Given the description of an element on the screen output the (x, y) to click on. 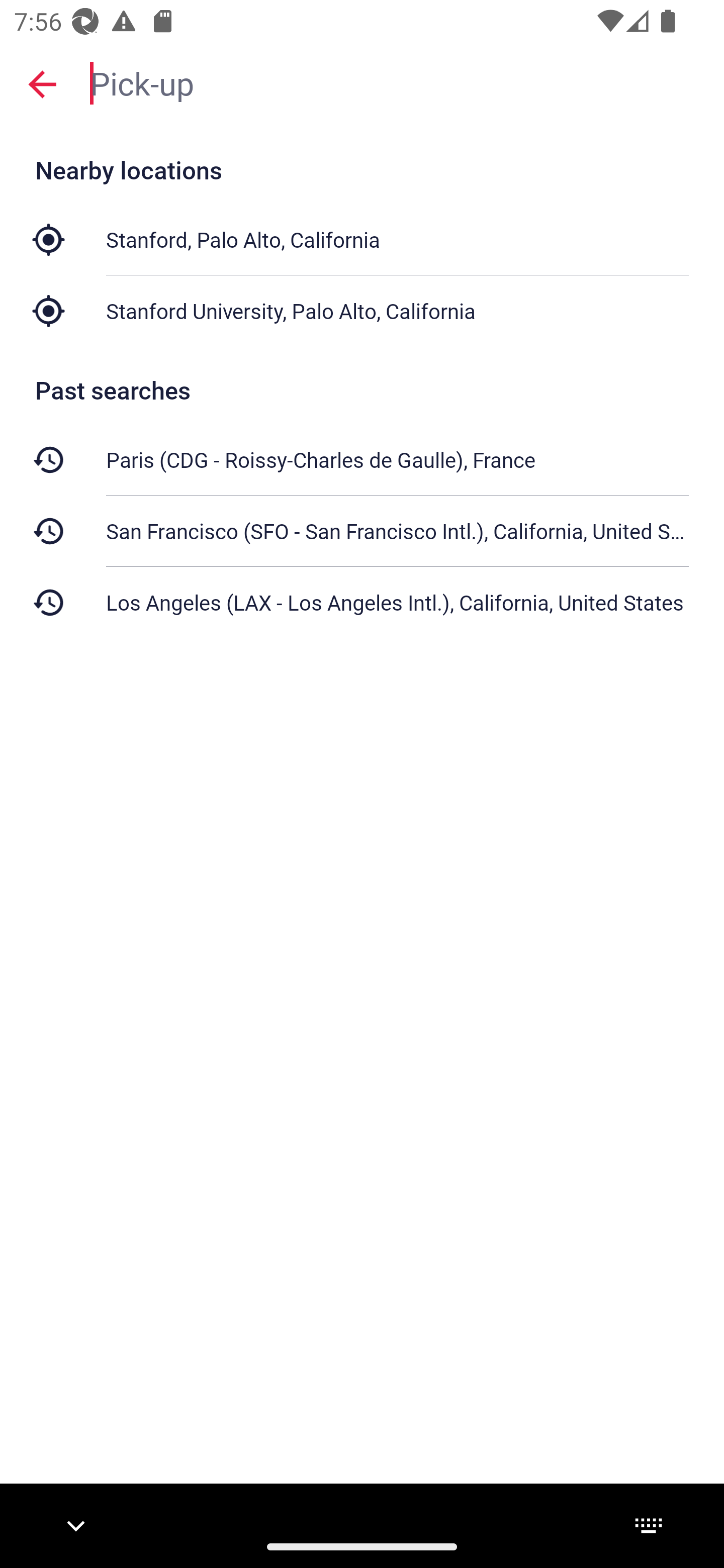
Pick-up,  (397, 82)
Close search screen (41, 83)
